Given the description of an element on the screen output the (x, y) to click on. 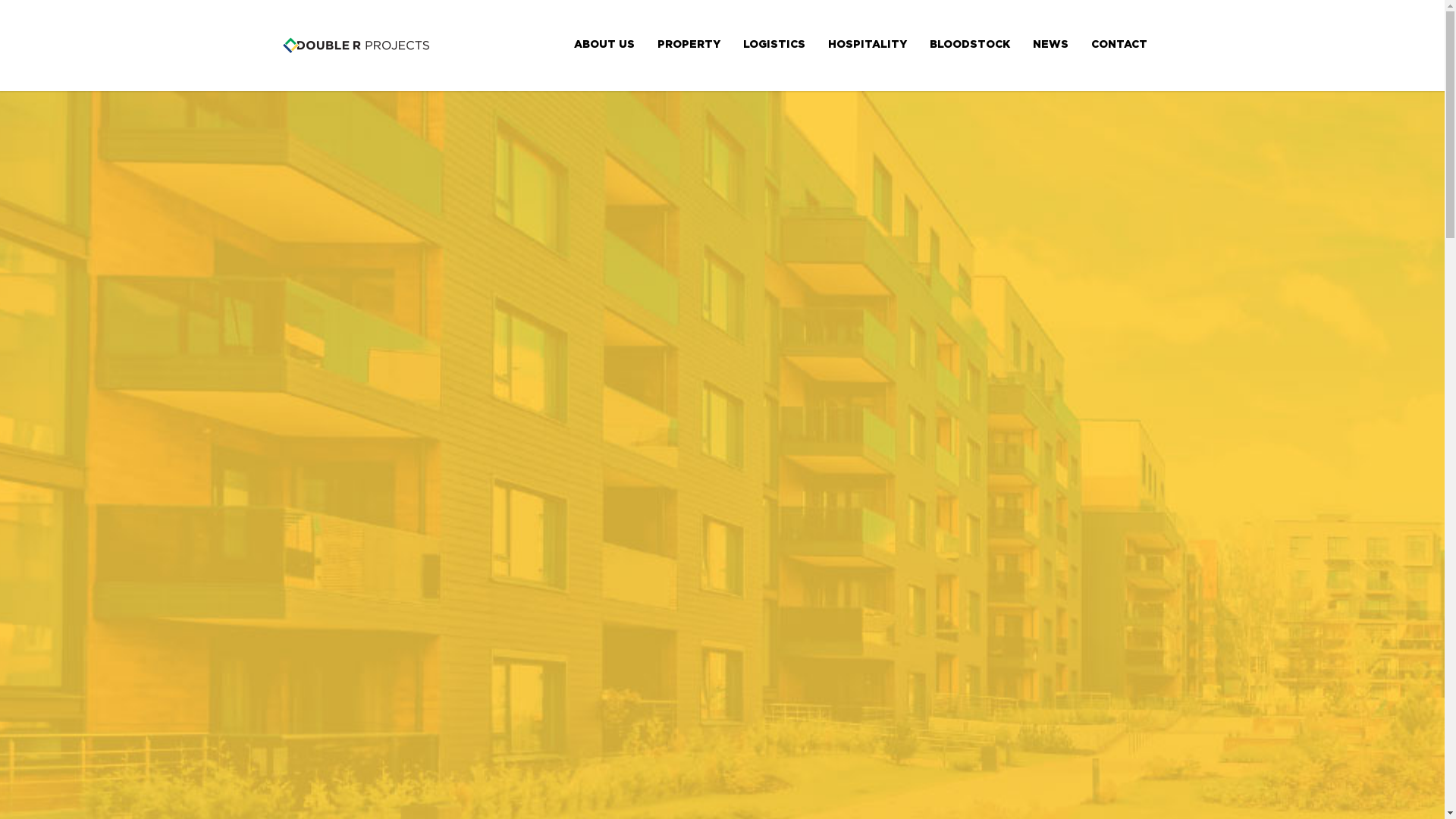
ABOUT US Element type: text (604, 43)
PROPERTY Element type: text (688, 43)
BLOODSTOCK Element type: text (968, 43)
CONTACT Element type: text (1118, 43)
LOGISTICS Element type: text (773, 43)
HOSPITALITY Element type: text (866, 43)
NEWS Element type: text (1049, 43)
